Given the description of an element on the screen output the (x, y) to click on. 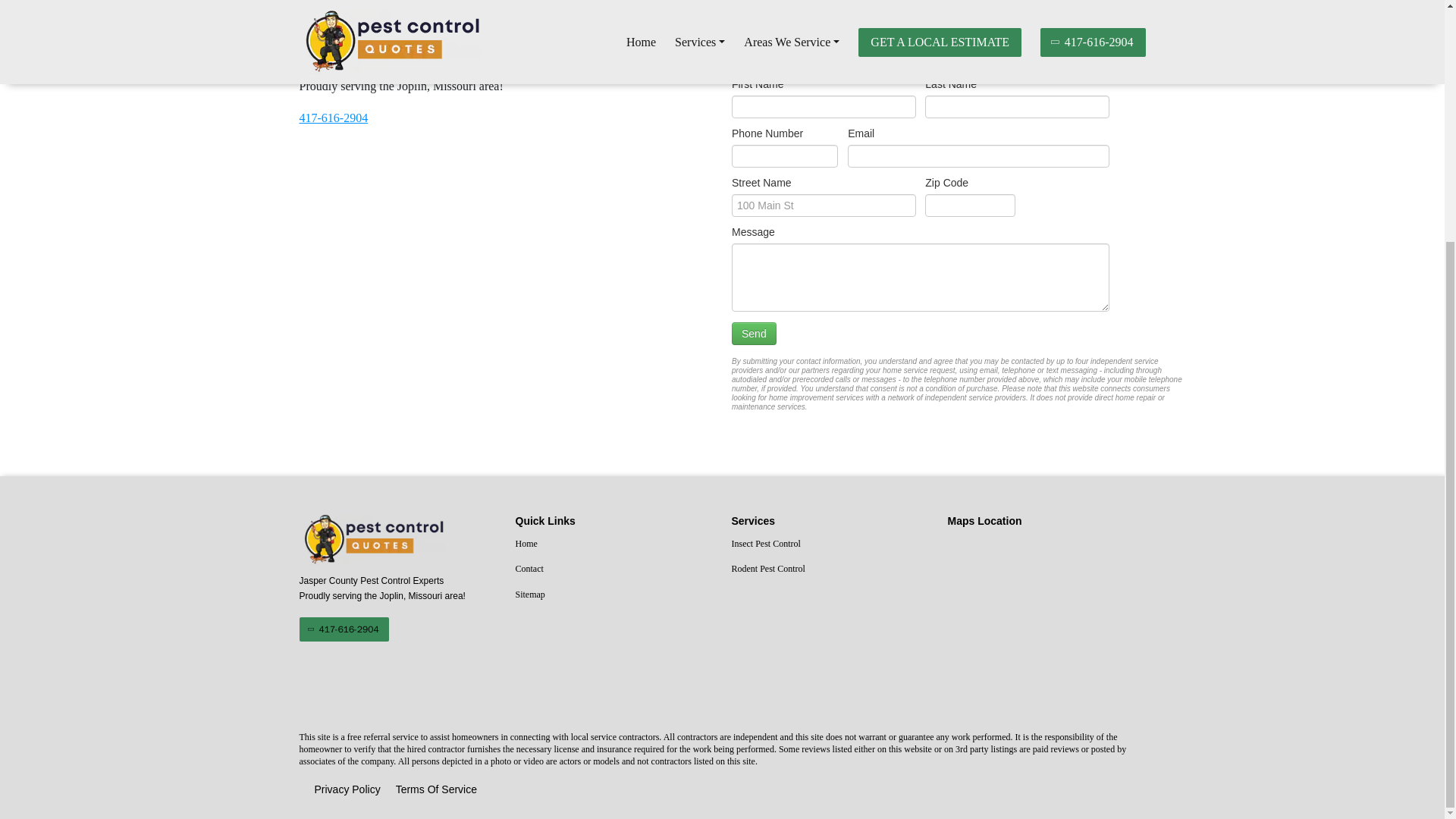
417-616-2904 (333, 117)
Terms Of Service (436, 790)
Home (614, 544)
Rodent Pest Control (829, 569)
Insect Pest Control (829, 544)
417-616-2904 (343, 629)
Sitemap (614, 595)
Contact (614, 569)
Privacy Policy (347, 790)
